Given the description of an element on the screen output the (x, y) to click on. 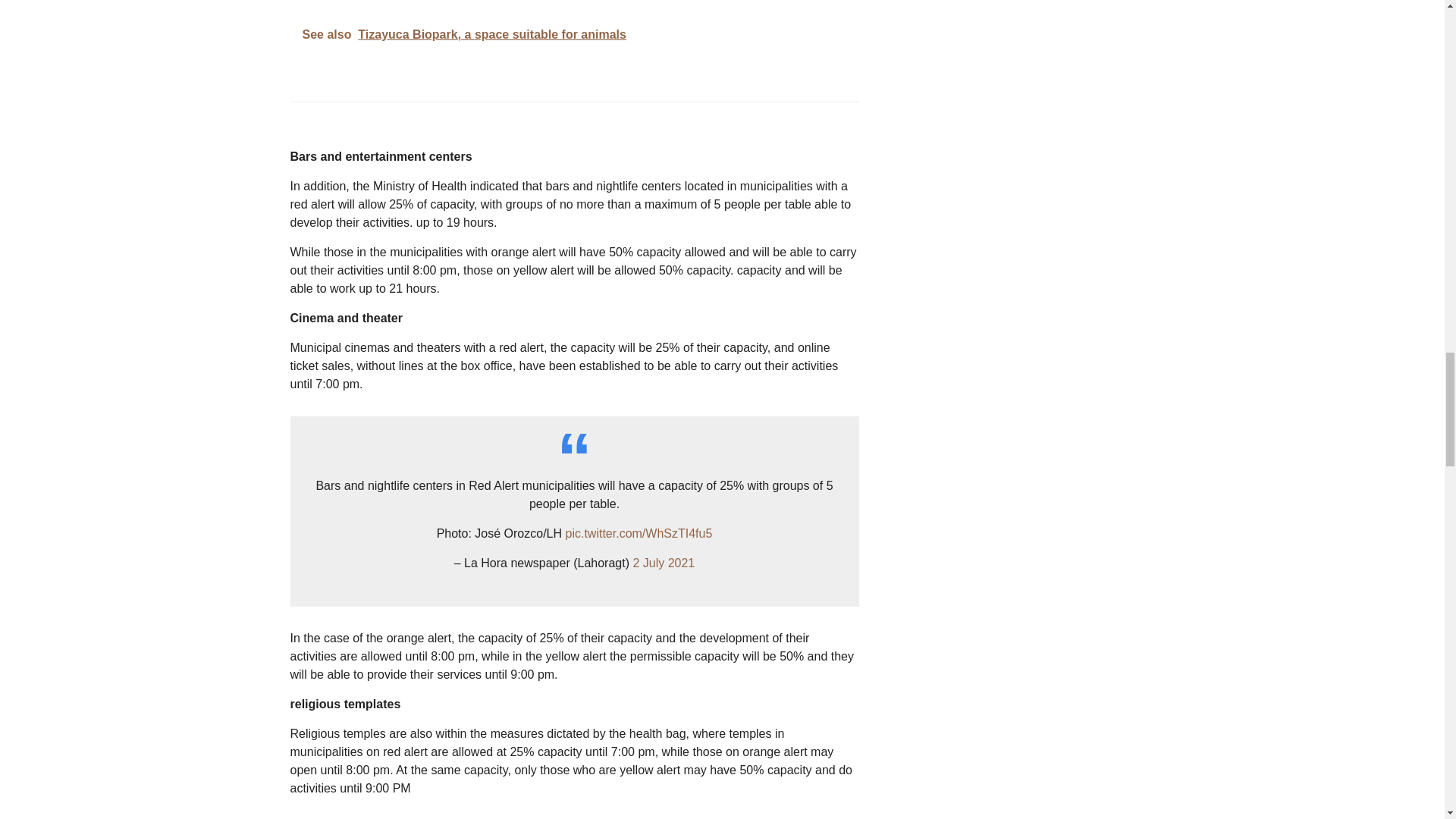
2 July 2021 (662, 562)
See also  Tizayuca Biopark, a space suitable for animals (574, 34)
